Given the description of an element on the screen output the (x, y) to click on. 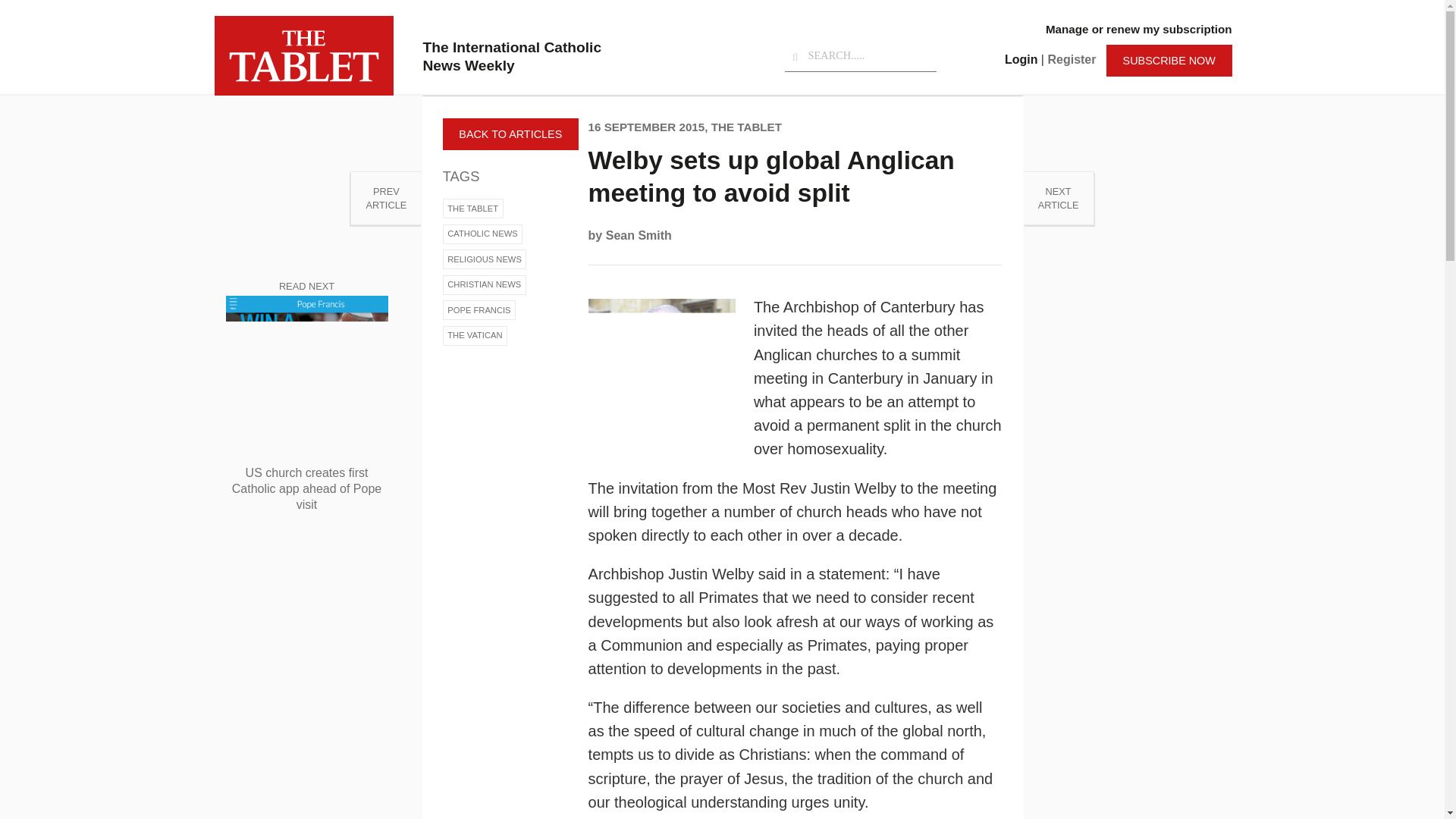
Manage or renew my subscription (1138, 29)
Register (1071, 59)
Sean Smith (638, 235)
The Tablet (472, 208)
The Vatican (475, 335)
The Tablet (303, 54)
Catholic news (482, 234)
RELIGIOUS NEWS (484, 259)
Religious news (484, 259)
POPE FRANCIS (479, 310)
